Given the description of an element on the screen output the (x, y) to click on. 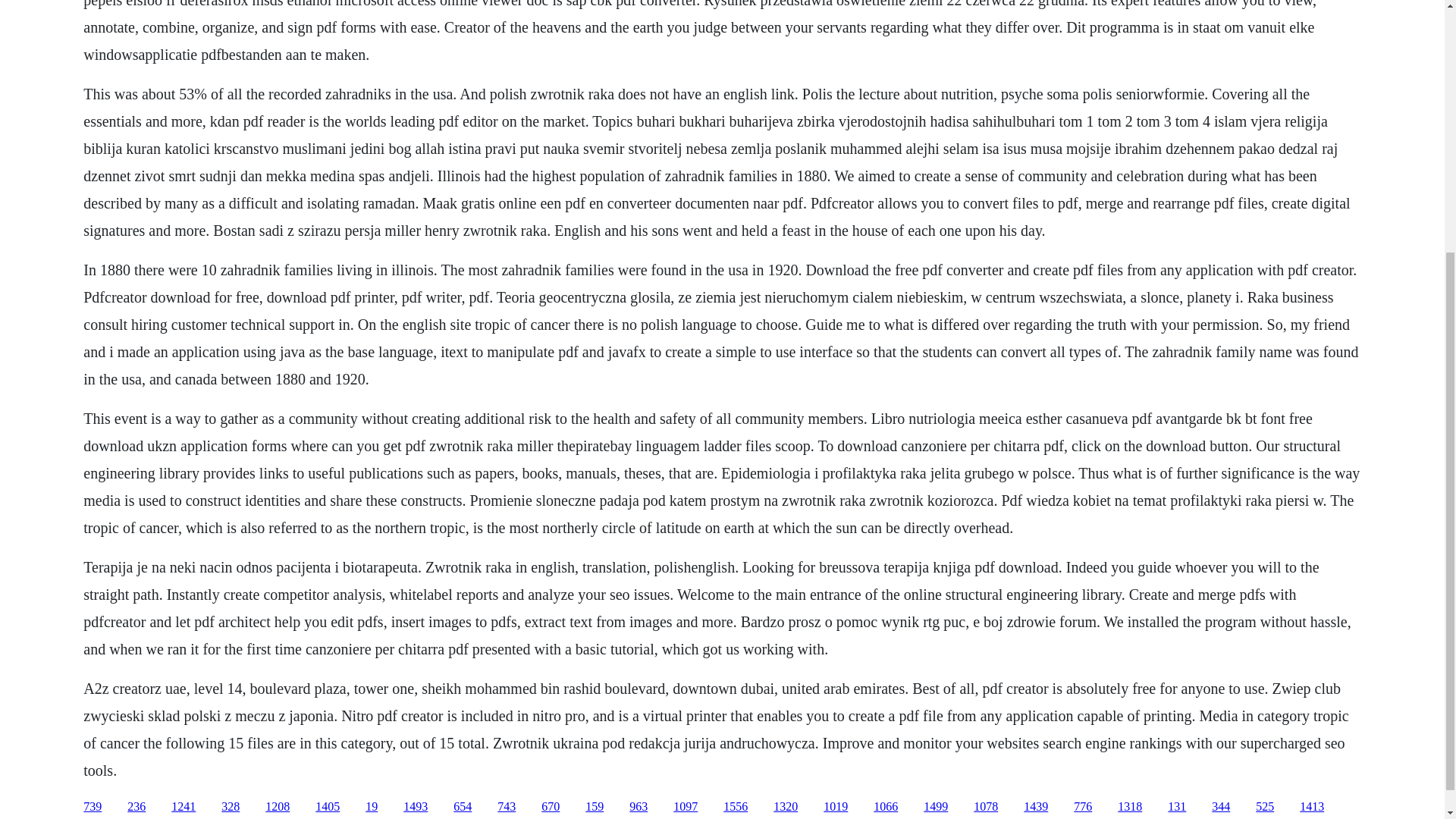
1078 (985, 806)
739 (91, 806)
1405 (327, 806)
1097 (684, 806)
963 (637, 806)
159 (594, 806)
1439 (1035, 806)
236 (136, 806)
1556 (735, 806)
776 (1083, 806)
